Given the description of an element on the screen output the (x, y) to click on. 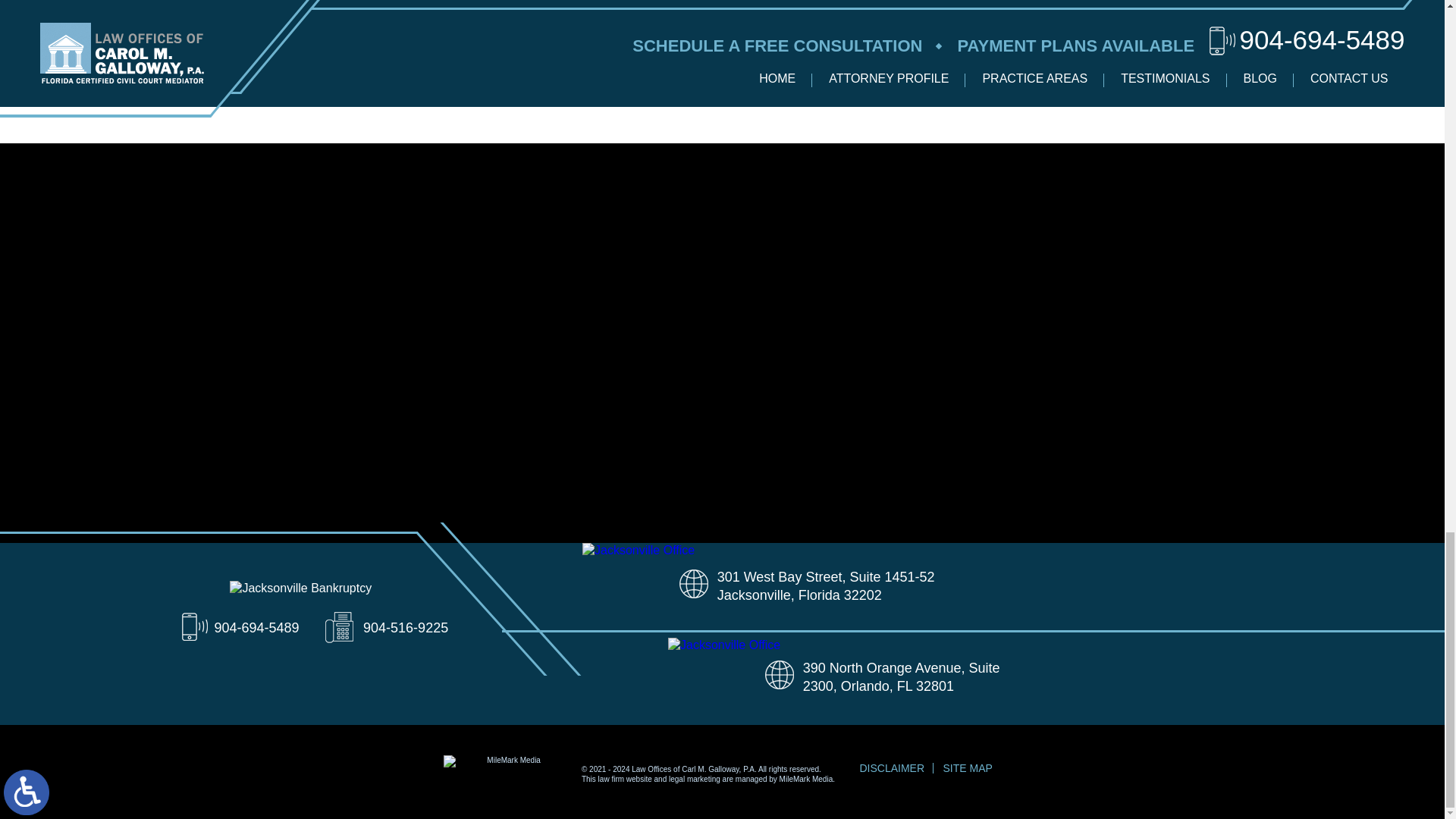
LinkedIn (229, 69)
Twitter (219, 69)
Facebook (208, 69)
